Given the description of an element on the screen output the (x, y) to click on. 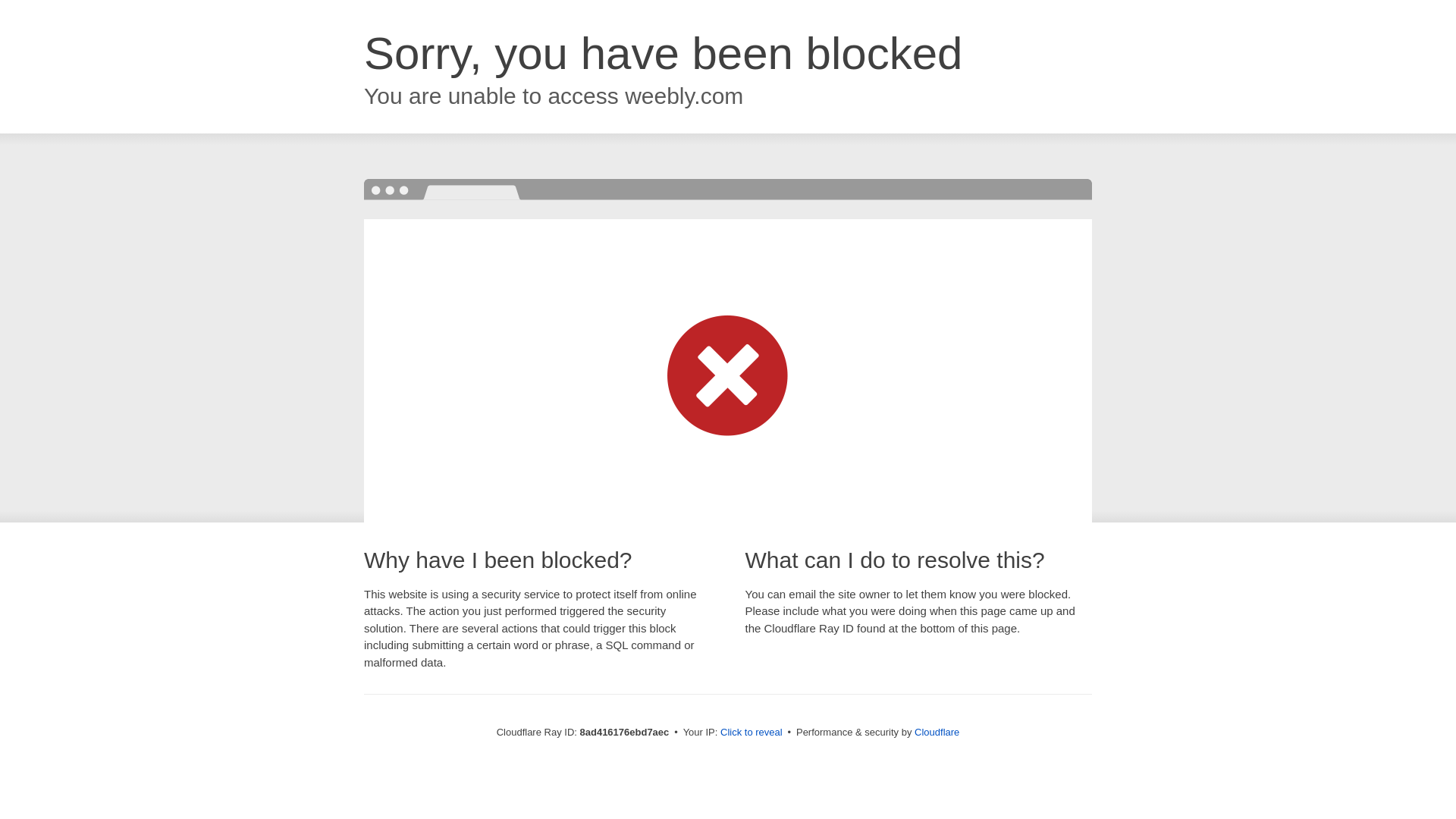
Click to reveal (751, 732)
Cloudflare (936, 731)
